Given the description of an element on the screen output the (x, y) to click on. 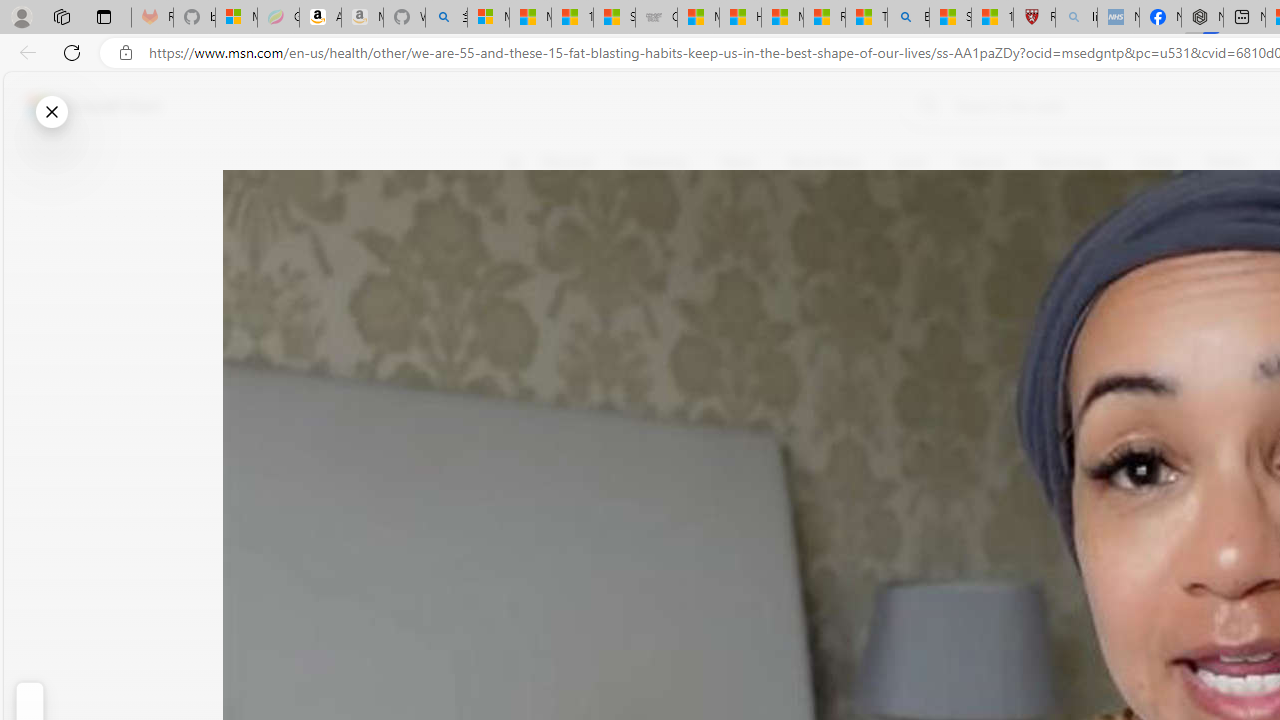
World News (824, 162)
Web search (924, 105)
Crime (1156, 162)
Science - MSN (950, 17)
Open navigation menu (513, 162)
Crime (1156, 162)
